Given the description of an element on the screen output the (x, y) to click on. 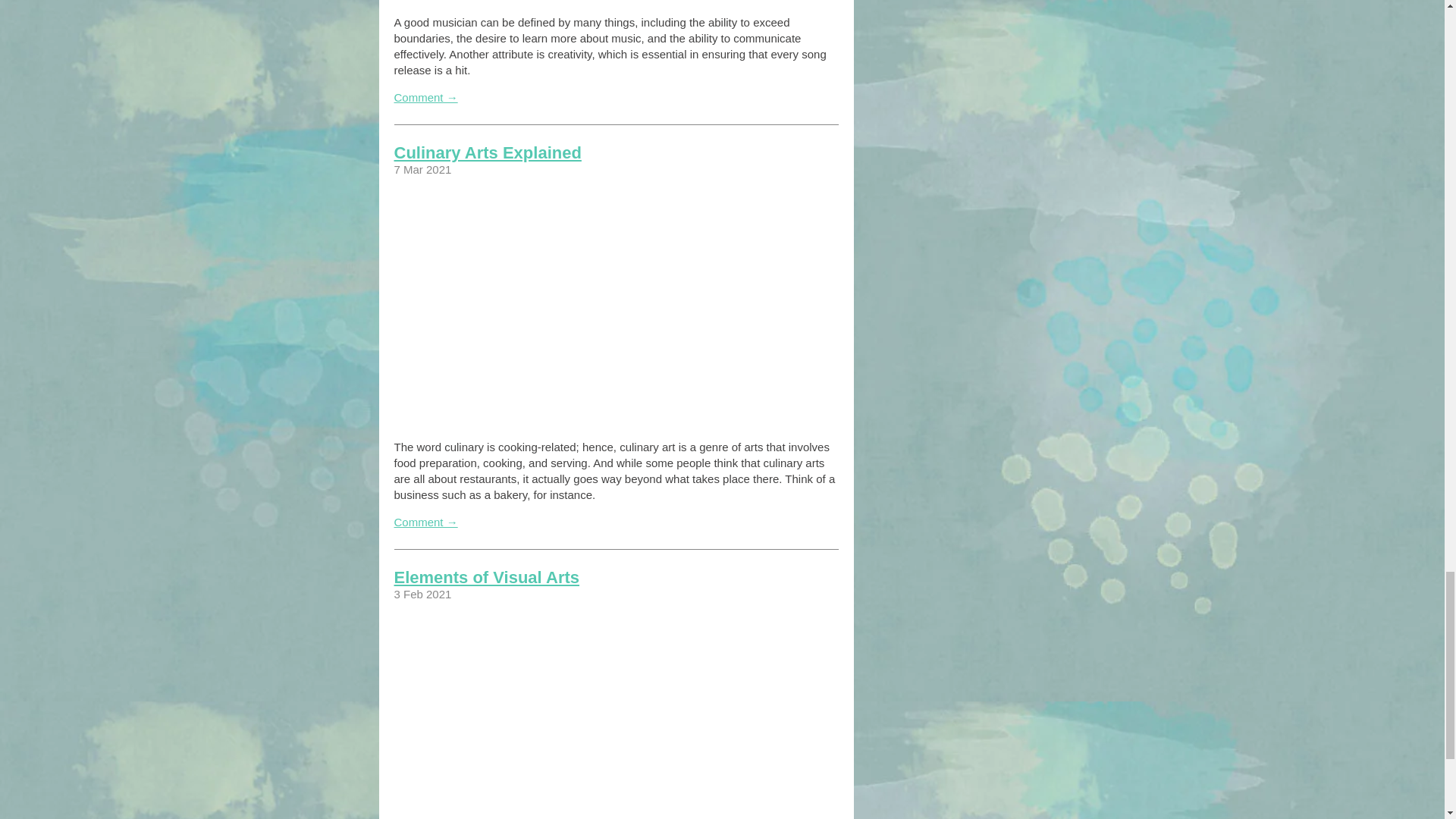
Culinary Arts Explained (487, 152)
Elements of Visual Arts (486, 577)
